Given the description of an element on the screen output the (x, y) to click on. 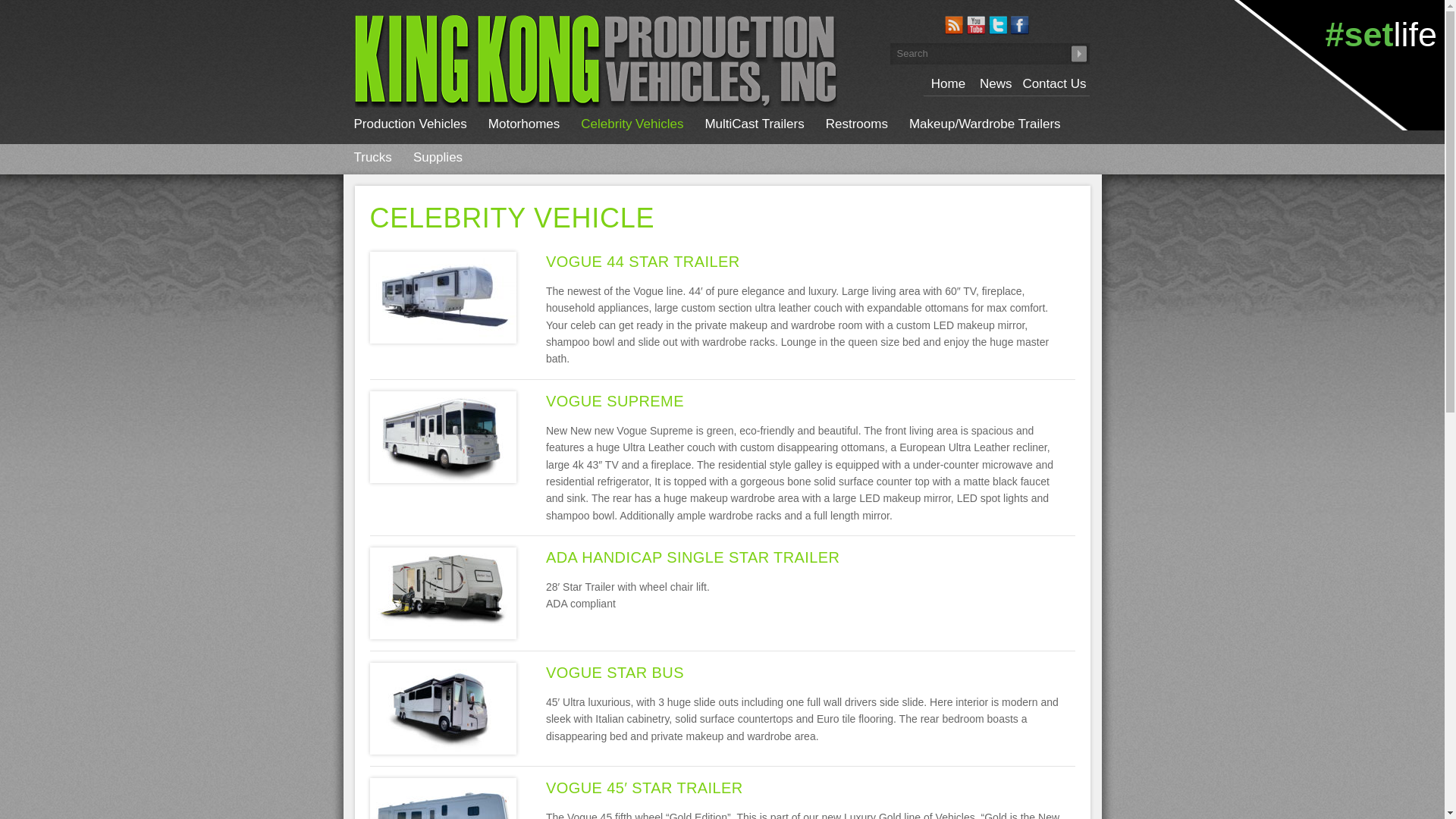
ADA Handicap Single Star Trailer (442, 592)
Home (947, 83)
Vogue 44 Star Trailer (642, 261)
Vogue Supreme (615, 401)
Vogue Star Bus (615, 672)
Youtube (975, 25)
Production Vehicles (409, 123)
Facebook (1019, 25)
Vogue Supreme (442, 435)
Search (1078, 53)
ADA Handicap Single Star Trailer (693, 556)
Contact Us (1053, 81)
Twitter (997, 25)
RSS (953, 25)
News (995, 81)
